Given the description of an element on the screen output the (x, y) to click on. 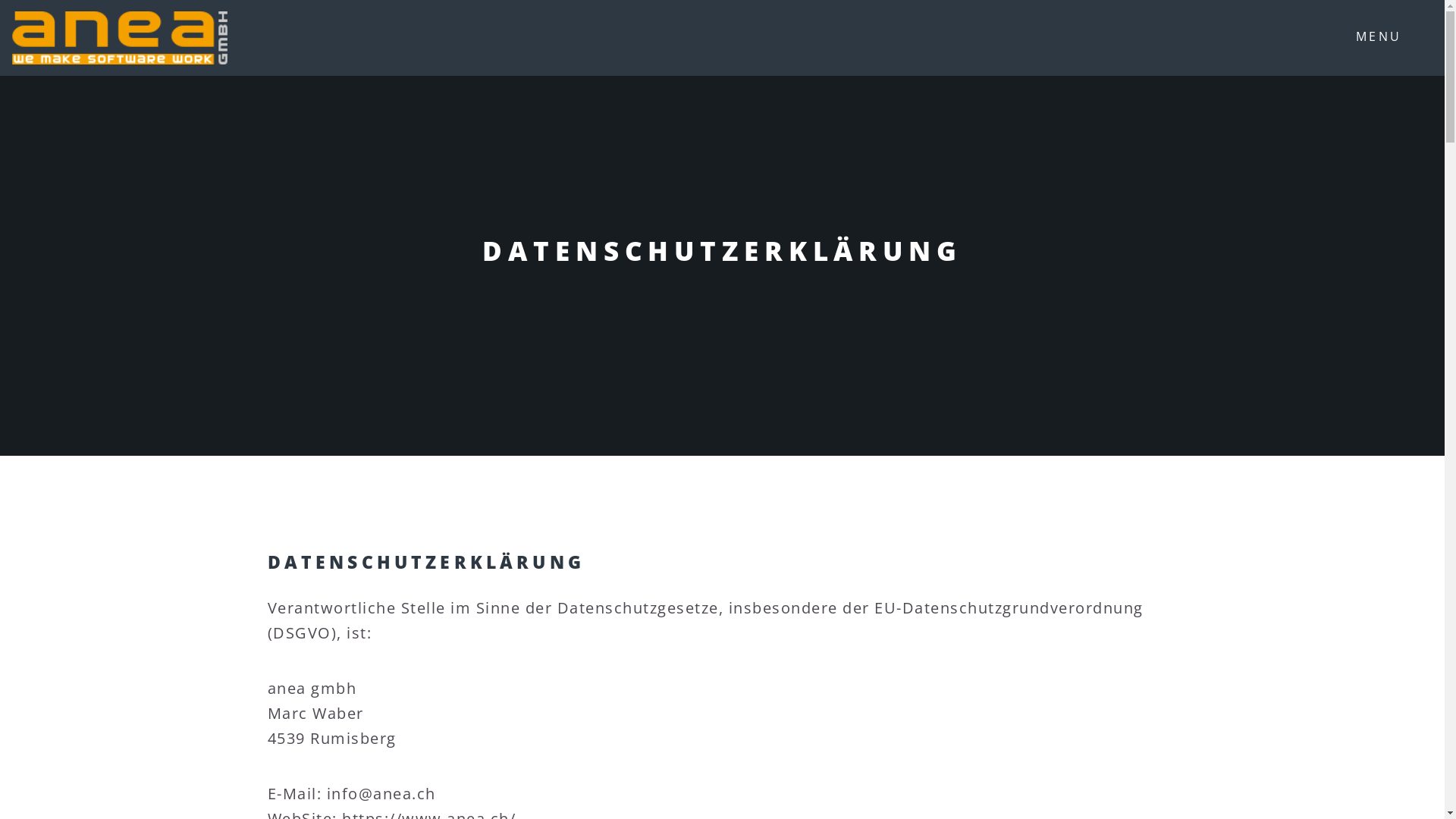
MENU Element type: text (1390, 37)
